Given the description of an element on the screen output the (x, y) to click on. 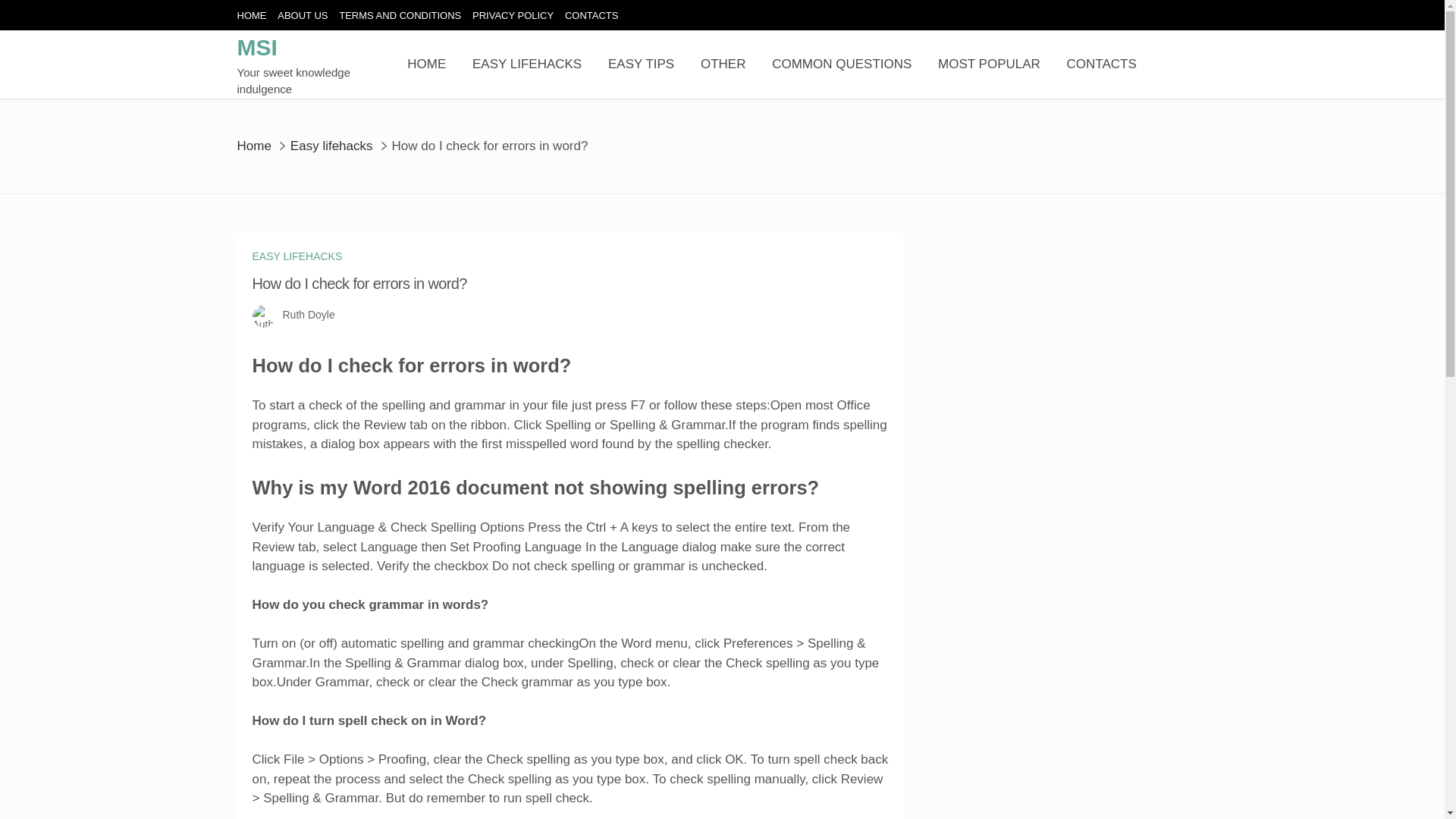
ABOUT US (302, 15)
MOST POPULAR (989, 64)
Ruth Doyle (308, 314)
CONTACTS (591, 15)
Easy lifehacks (330, 145)
TERMS AND CONDITIONS (400, 15)
PRIVACY POLICY (512, 15)
EASY LIFEHACKS (296, 256)
EASY LIFEHACKS (525, 64)
MSI (255, 47)
